Given the description of an element on the screen output the (x, y) to click on. 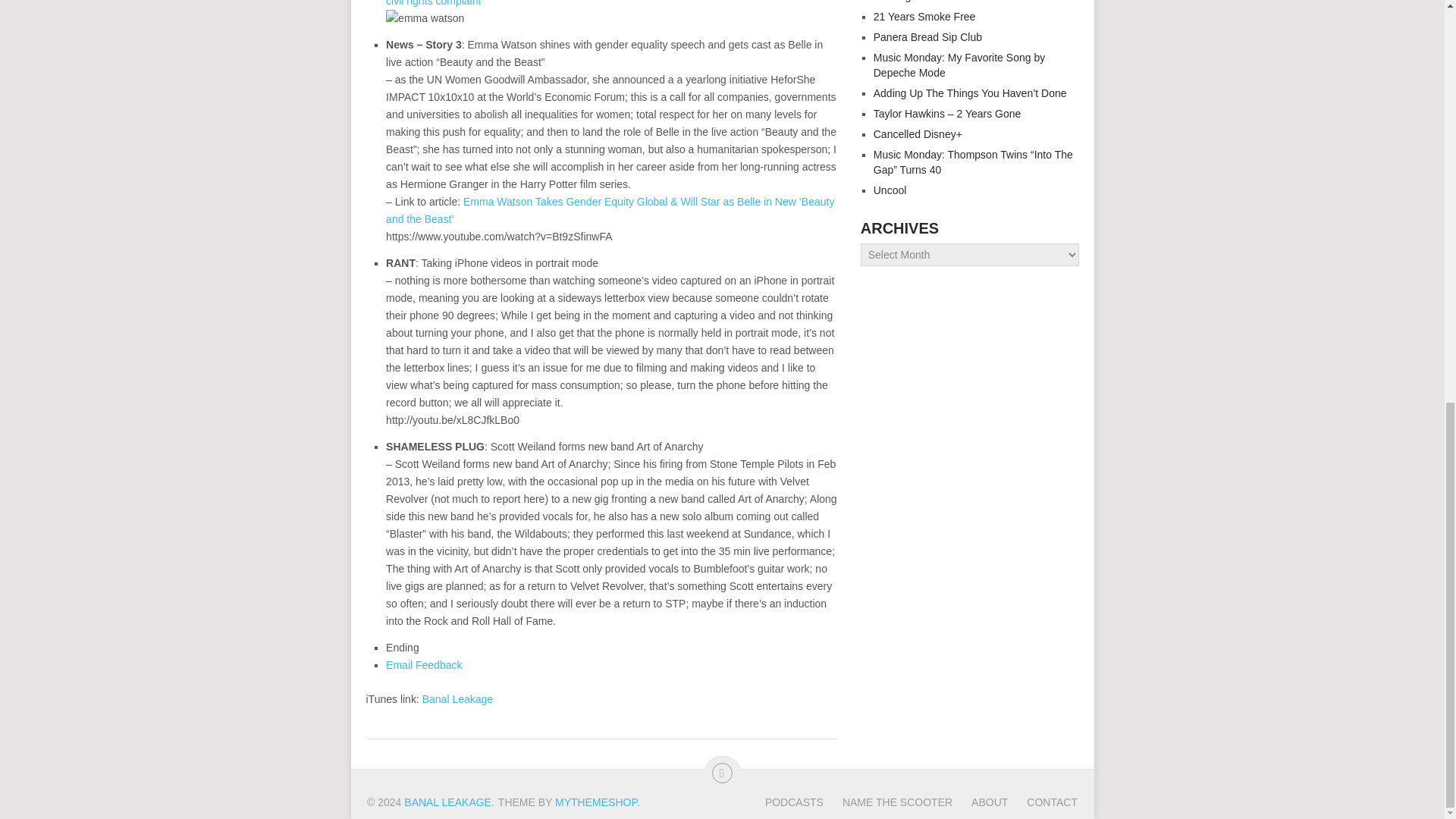
Email Feedback (423, 664)
Feedback (423, 664)
Passing Them On (915, 1)
Uncool (890, 190)
BANAL LEAKAGE (448, 802)
Panera Bread Sip Club (927, 37)
PODCASTS (794, 802)
MYTHEMESHOP (595, 802)
Random Bits of Whatever (448, 802)
NAME THE SCOOTER (888, 802)
Banal Leakage (457, 698)
iTunes Podcast (457, 698)
CONTACT (1042, 802)
Music Monday: My Favorite Song by Depeche Mode (959, 64)
